Given the description of an element on the screen output the (x, y) to click on. 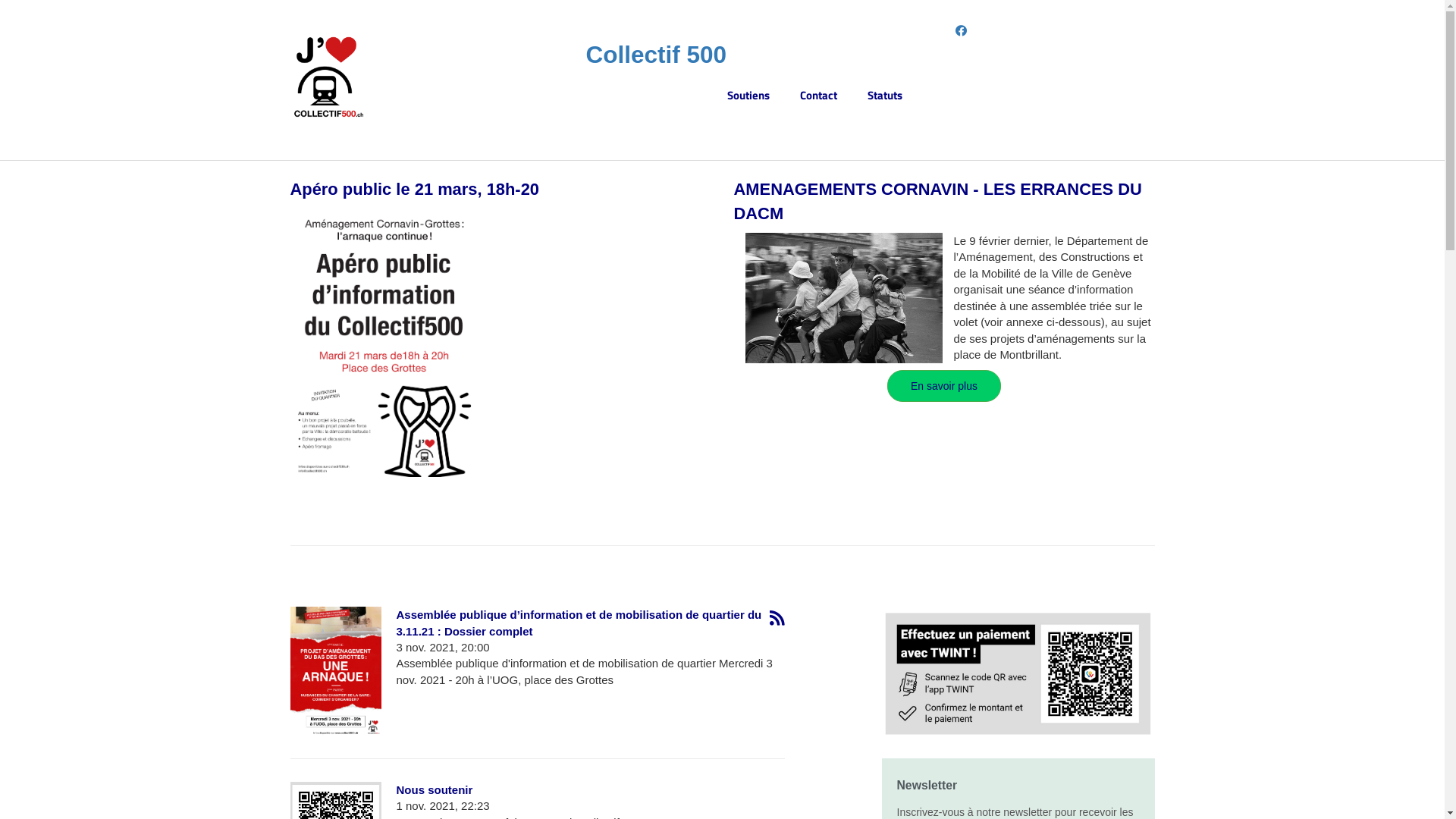
Contact Element type: text (833, 94)
Soutiens Element type: text (763, 94)
Collectif 500 Element type: text (655, 54)
AMENAGEMENTS CORNAVIN - LES ERRANCES DU DACM Element type: text (938, 200)
Nous soutenir Element type: text (433, 789)
Facebook Element type: hover (960, 30)
Statuts Element type: text (899, 94)
Photo: (c) Raymond Depardon, Saigon 1972 Element type: hover (842, 297)
En savoir plus Element type: text (943, 385)
